Given the description of an element on the screen output the (x, y) to click on. 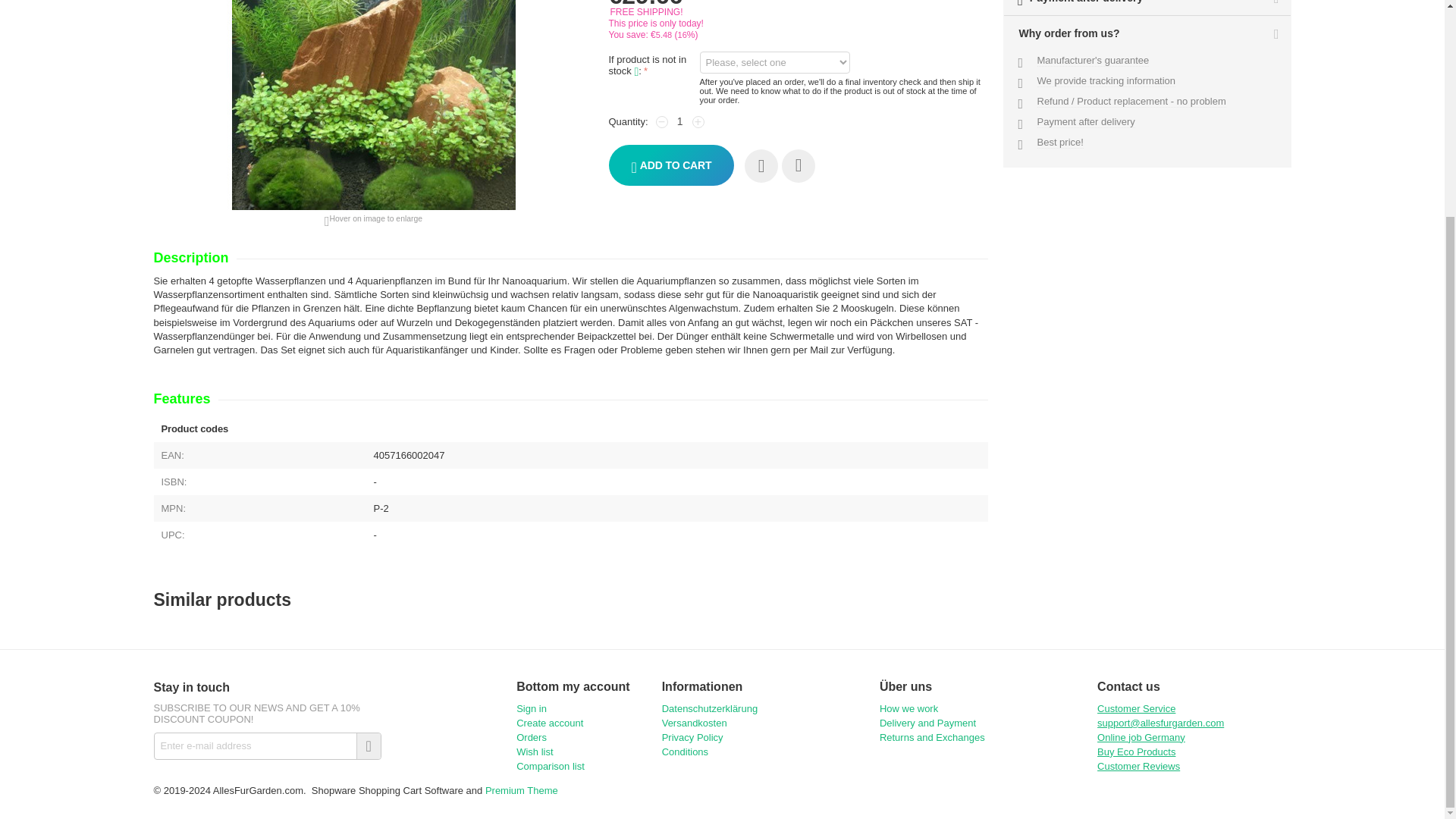
The guarantee for all products in our store is 12 months. (1093, 60)
Enter e-mail address (266, 746)
We provide you with best prices only! (1059, 142)
Pay your order after delivery within 14 days timeframe. (1085, 121)
1 (680, 121)
